Given the description of an element on the screen output the (x, y) to click on. 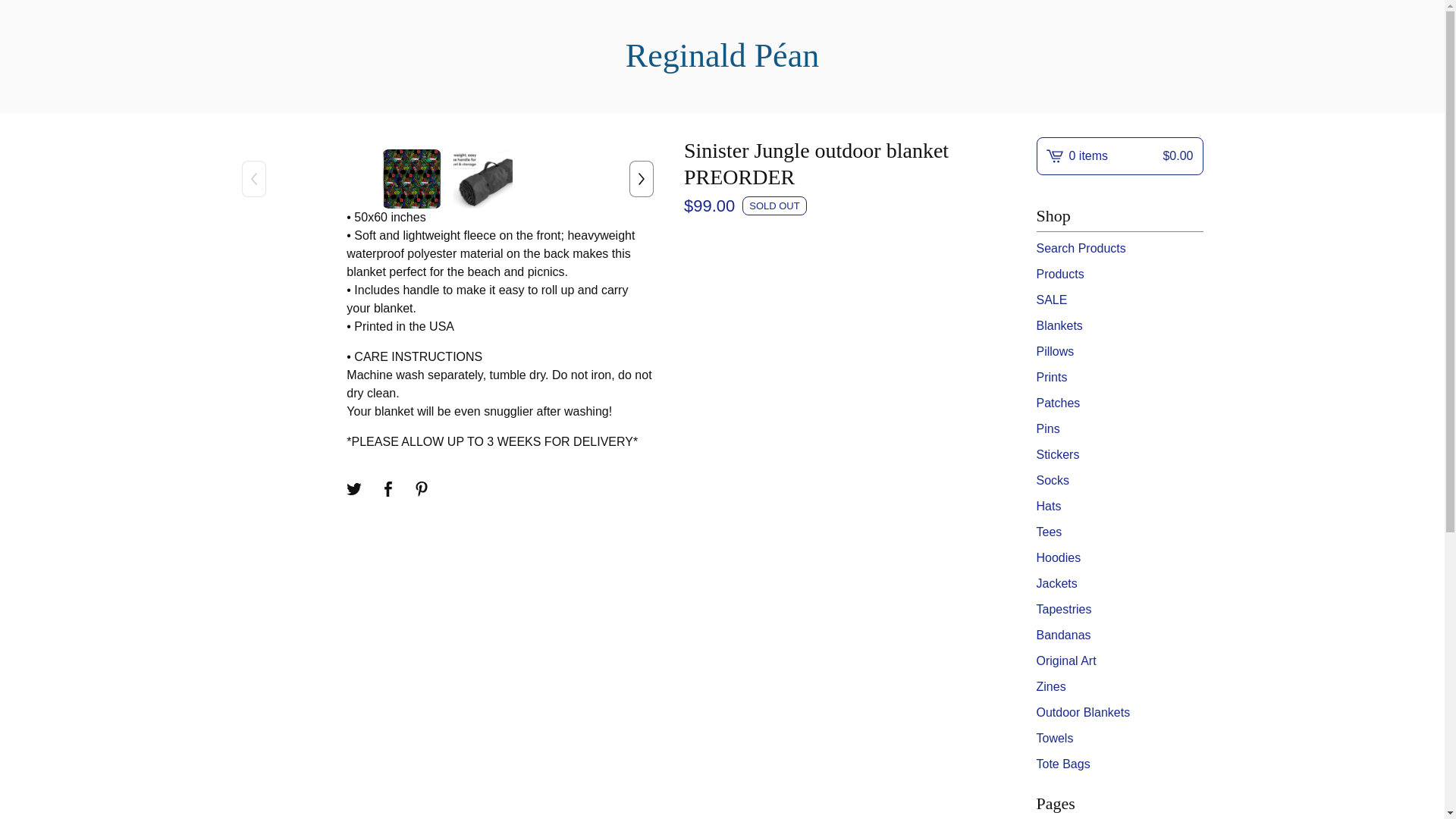
Bandanas (1118, 635)
Zines (1118, 686)
Hoodies (1118, 557)
Products (1118, 274)
View Hoodies (1118, 557)
View Patches (1118, 403)
Jackets (1118, 583)
View Tapestries (1118, 608)
View Hats (1118, 506)
View Blankets (1118, 325)
Search Products (1118, 248)
Pin (421, 488)
View SALE (1118, 300)
Pillows (1118, 351)
Towels (1118, 738)
